Given the description of an element on the screen output the (x, y) to click on. 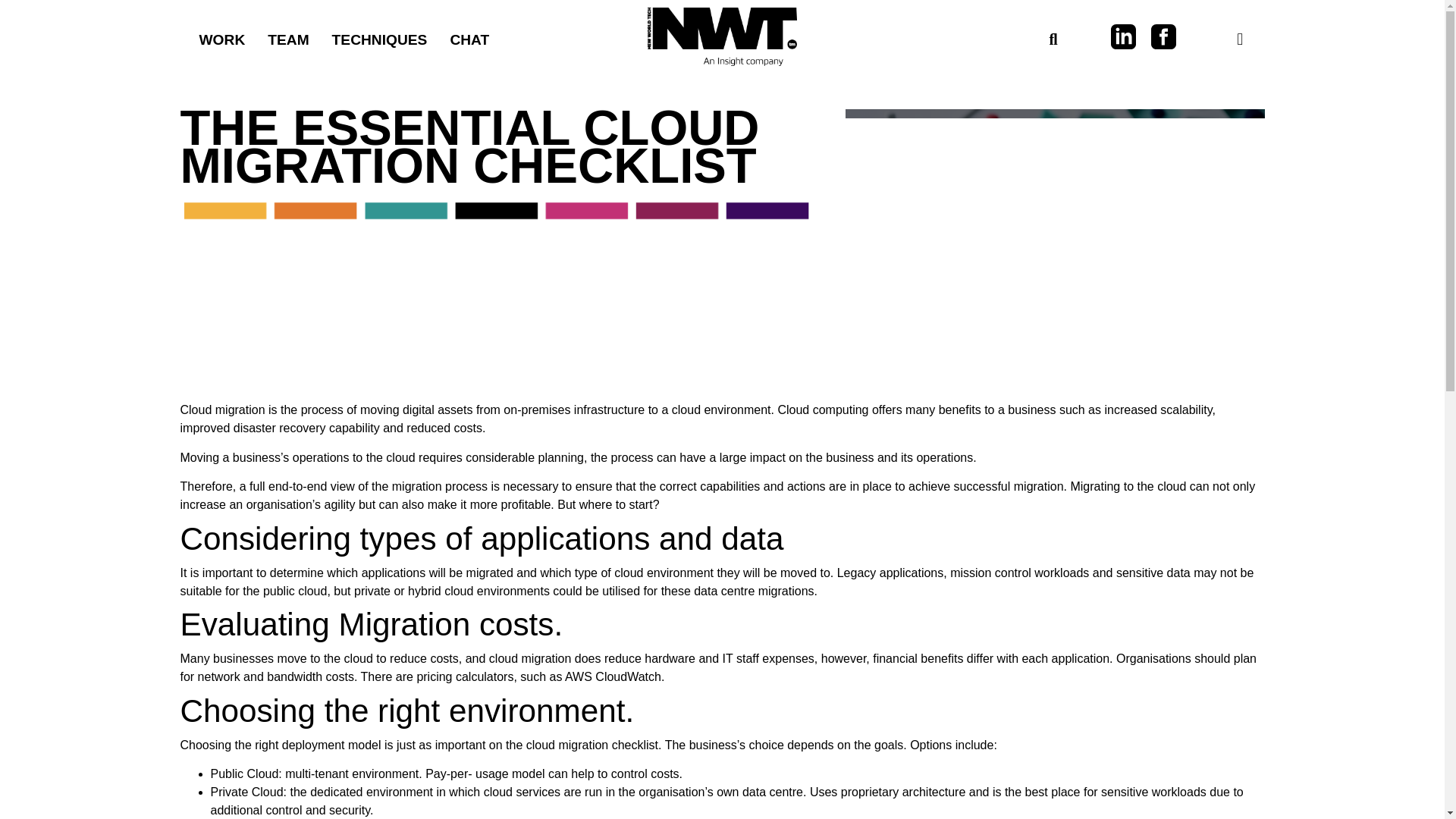
CHAT (469, 39)
TEAM (288, 39)
TECHNIQUES (379, 39)
WORK (222, 39)
